Given the description of an element on the screen output the (x, y) to click on. 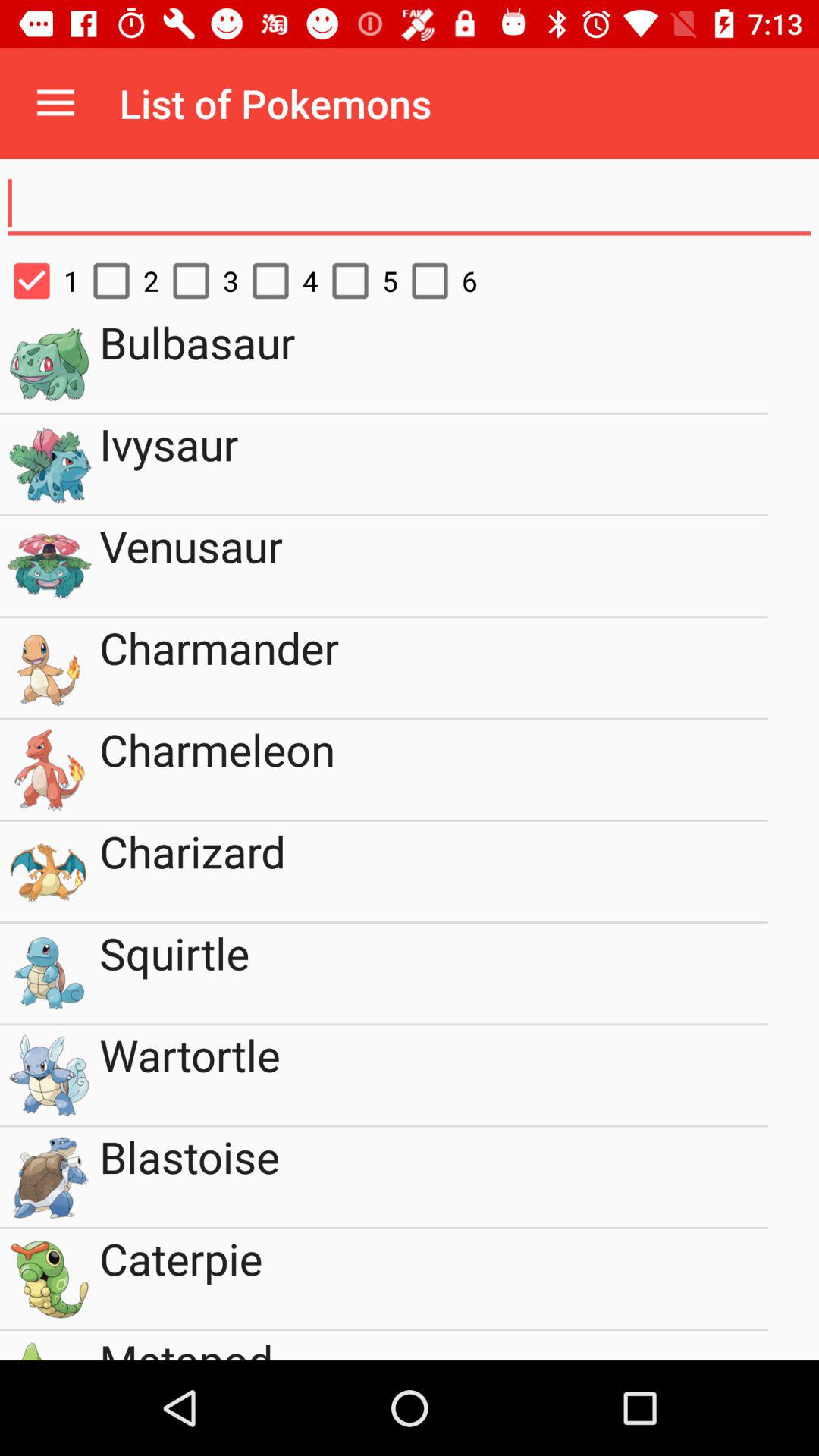
turn on item to the left of the 2 (39, 280)
